Given the description of an element on the screen output the (x, y) to click on. 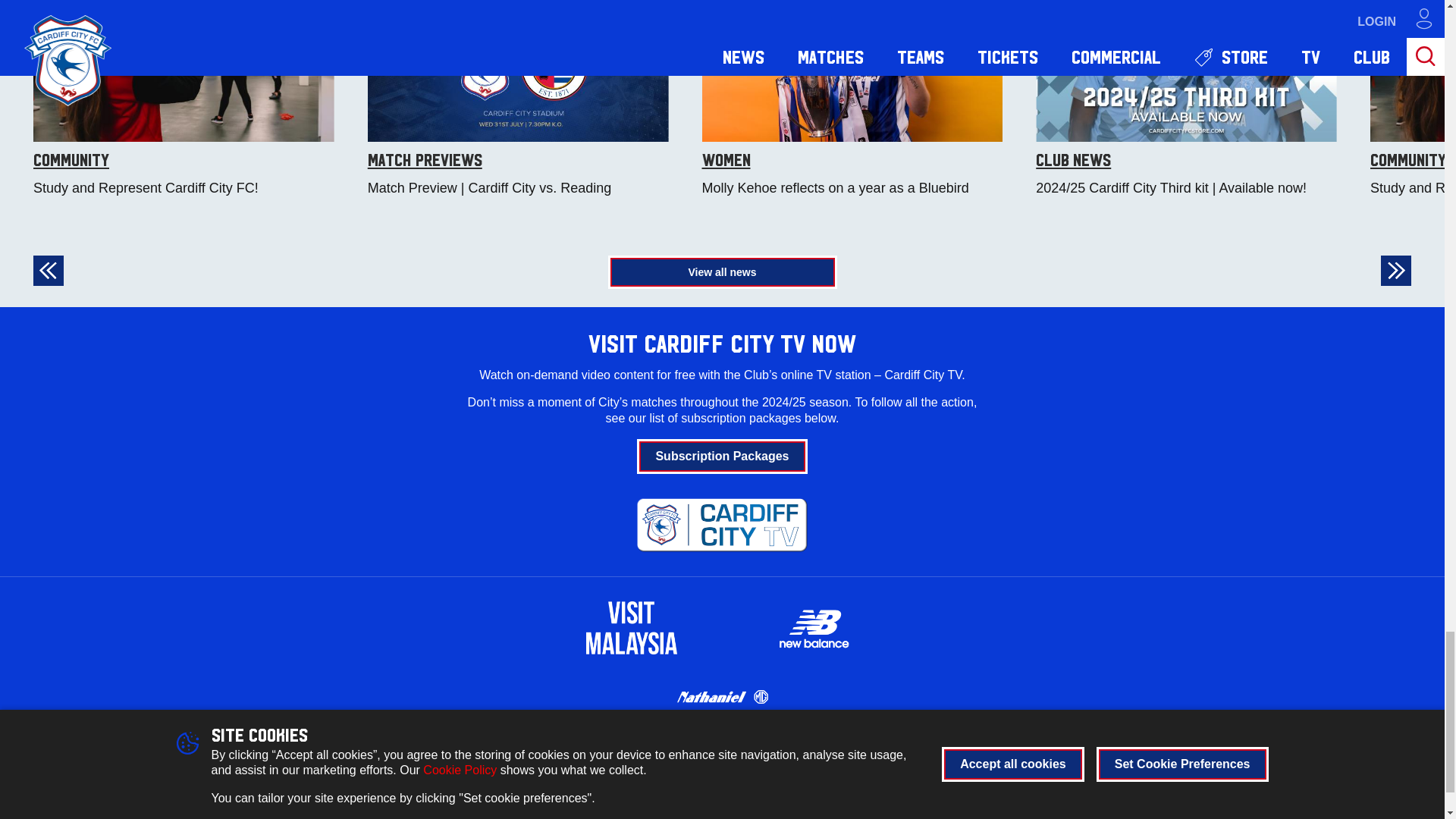
New Balance (813, 627)
Visit Malaysia (631, 627)
Nathaniel Cars (722, 696)
